Given the description of an element on the screen output the (x, y) to click on. 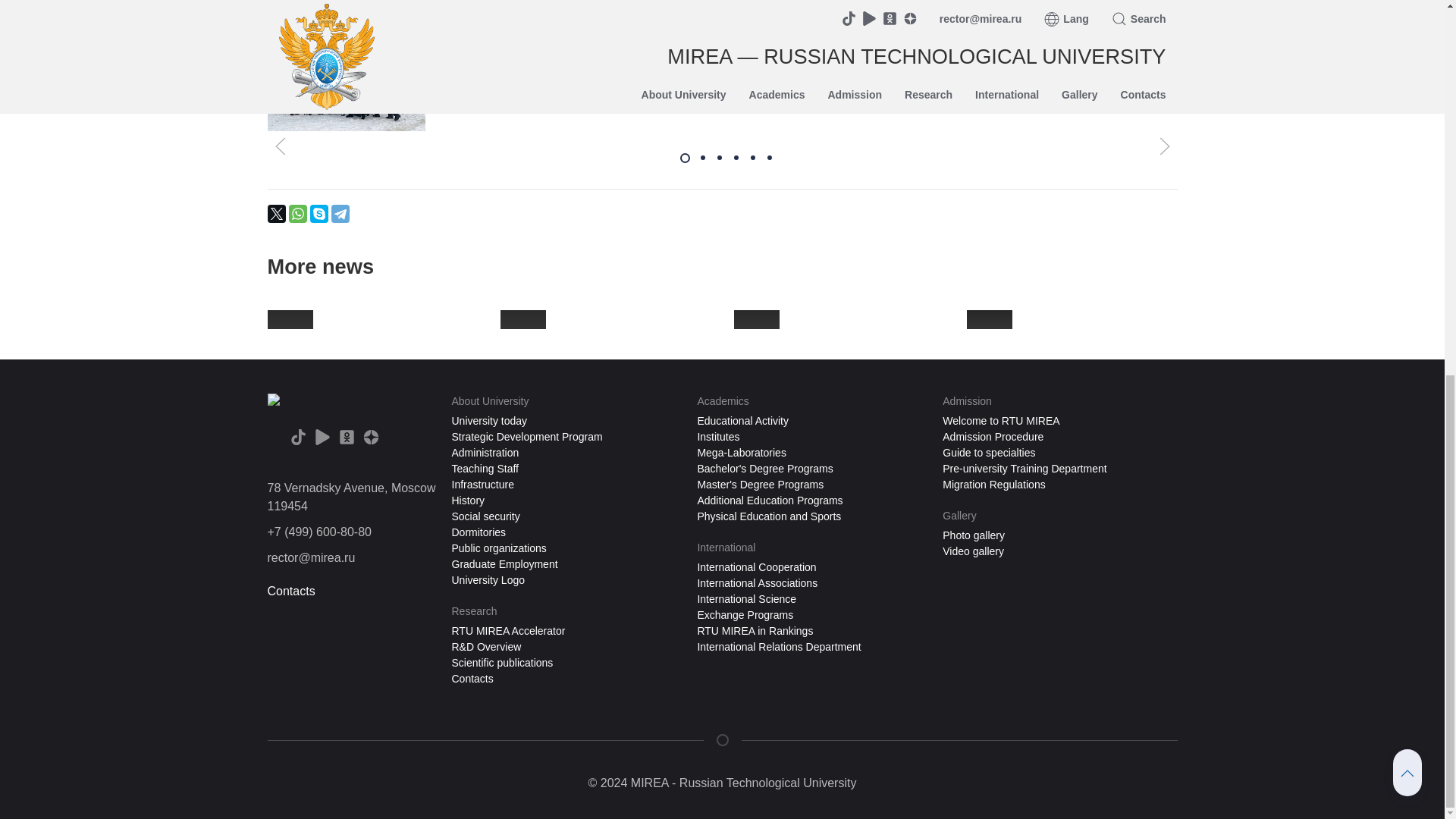
Telegram (339, 213)
Twitter (275, 213)
WhatsApp (296, 213)
Skype (317, 213)
